Given the description of an element on the screen output the (x, y) to click on. 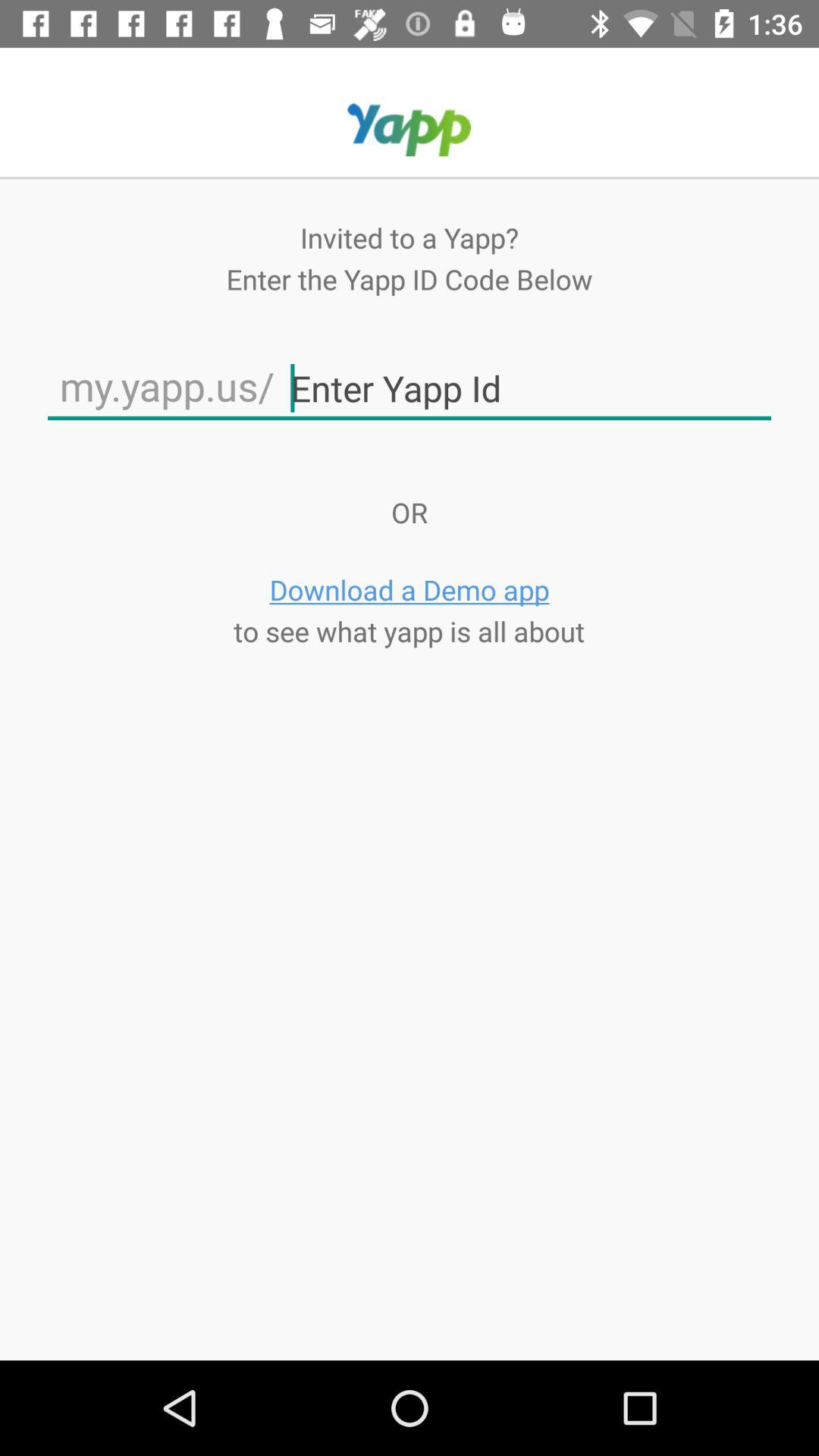
tap the app above the to see what (409, 589)
